Given the description of an element on the screen output the (x, y) to click on. 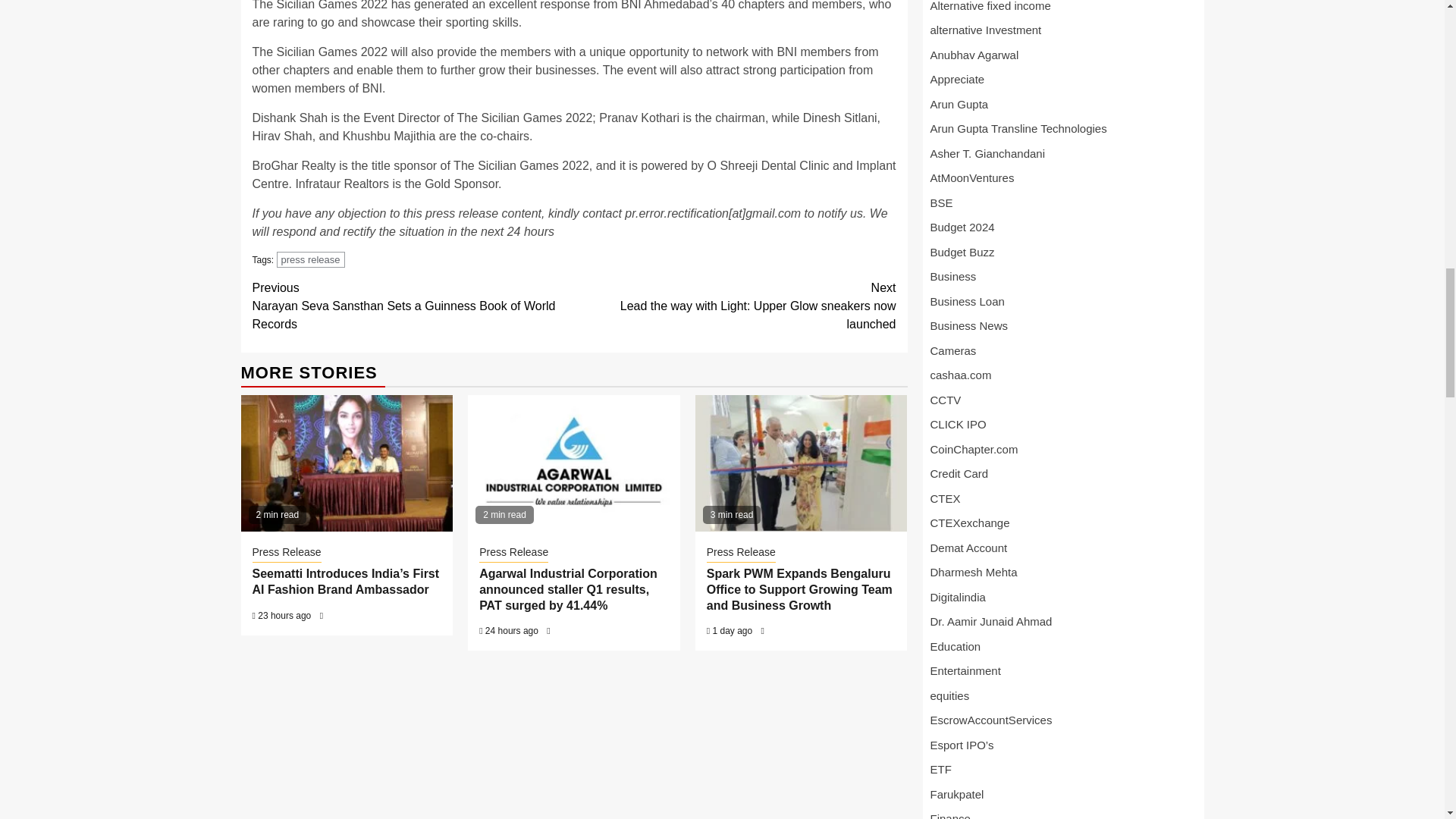
Press Release (285, 553)
press release (310, 259)
Press Release (741, 553)
Press Release (513, 553)
